Given the description of an element on the screen output the (x, y) to click on. 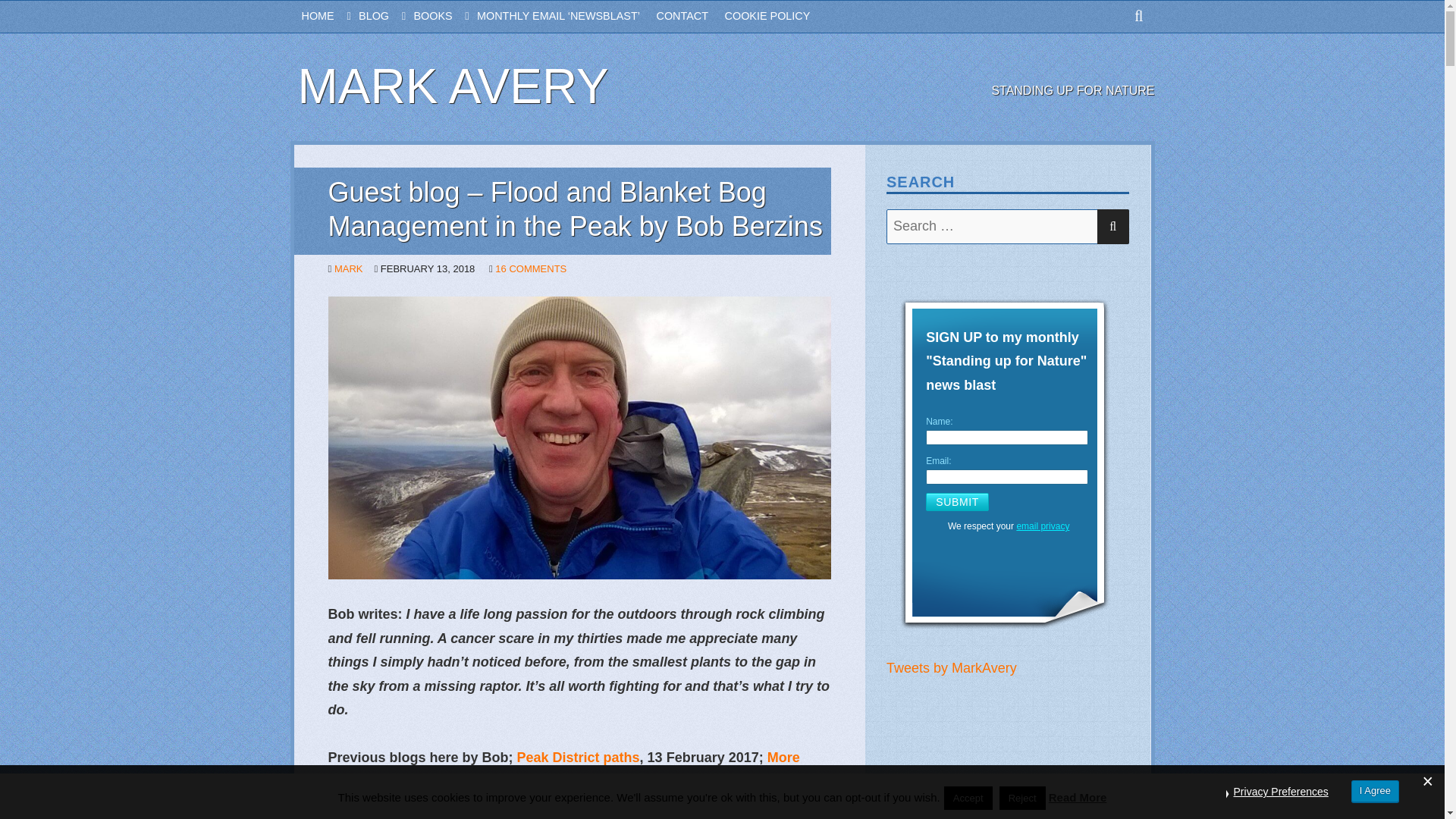
COOKIE POLICY (776, 16)
Privacy Policy (1042, 525)
Submit (957, 502)
BLOG (385, 16)
CONTACT (689, 16)
BOOKS (445, 16)
MARK AVERY (452, 85)
HOME (330, 16)
